Given the description of an element on the screen output the (x, y) to click on. 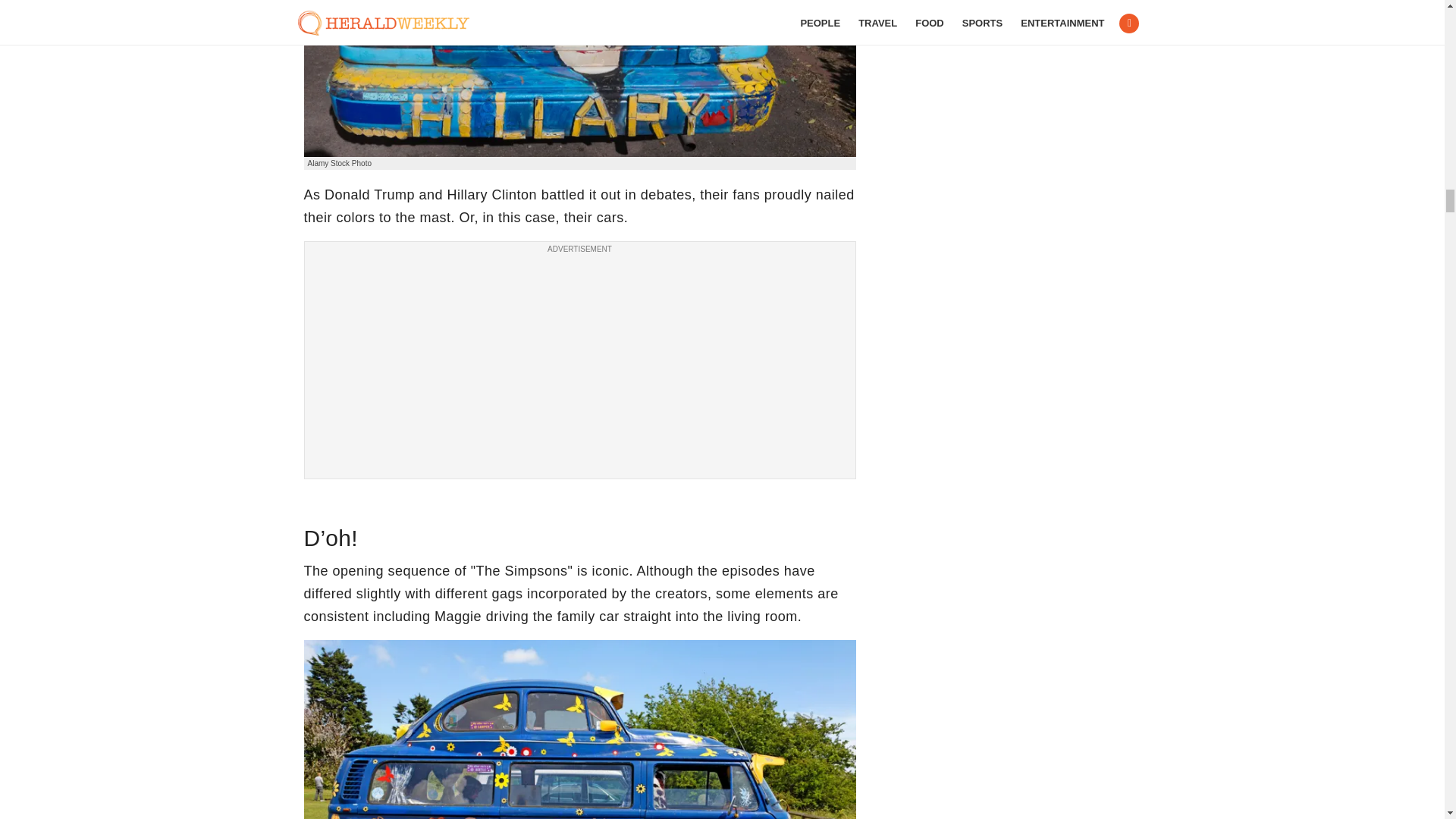
Honk for Hillary (579, 79)
